Given the description of an element on the screen output the (x, y) to click on. 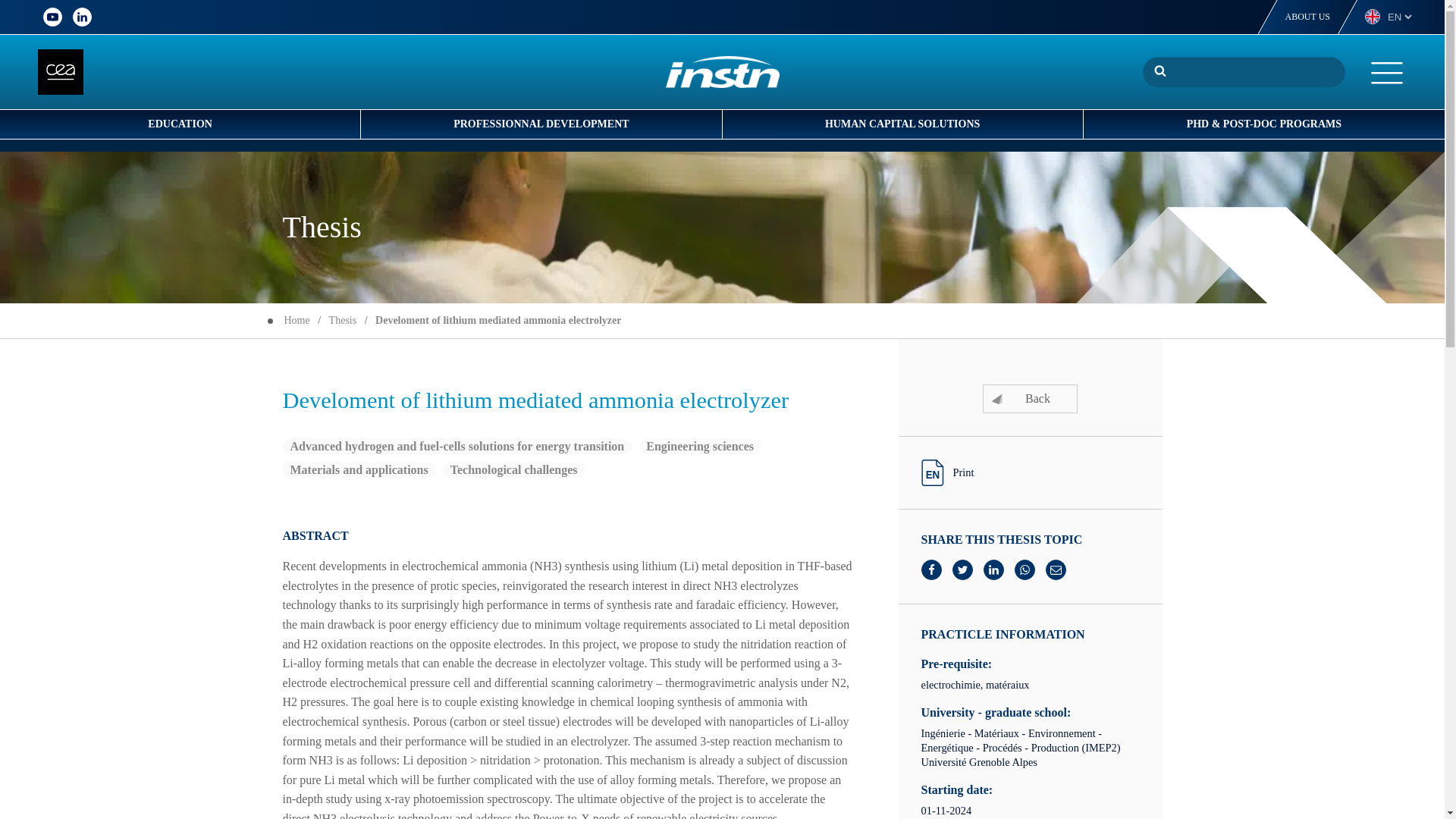
PROFESSIONNAL DEVELOPMENT (541, 124)
Home (295, 319)
ABOUT US (1307, 17)
HUMAN CAPITAL SOLUTIONS (902, 124)
Search (1156, 70)
Thesis (342, 319)
Print (947, 472)
EDUCATION (180, 124)
Back (1029, 398)
